Given the description of an element on the screen output the (x, y) to click on. 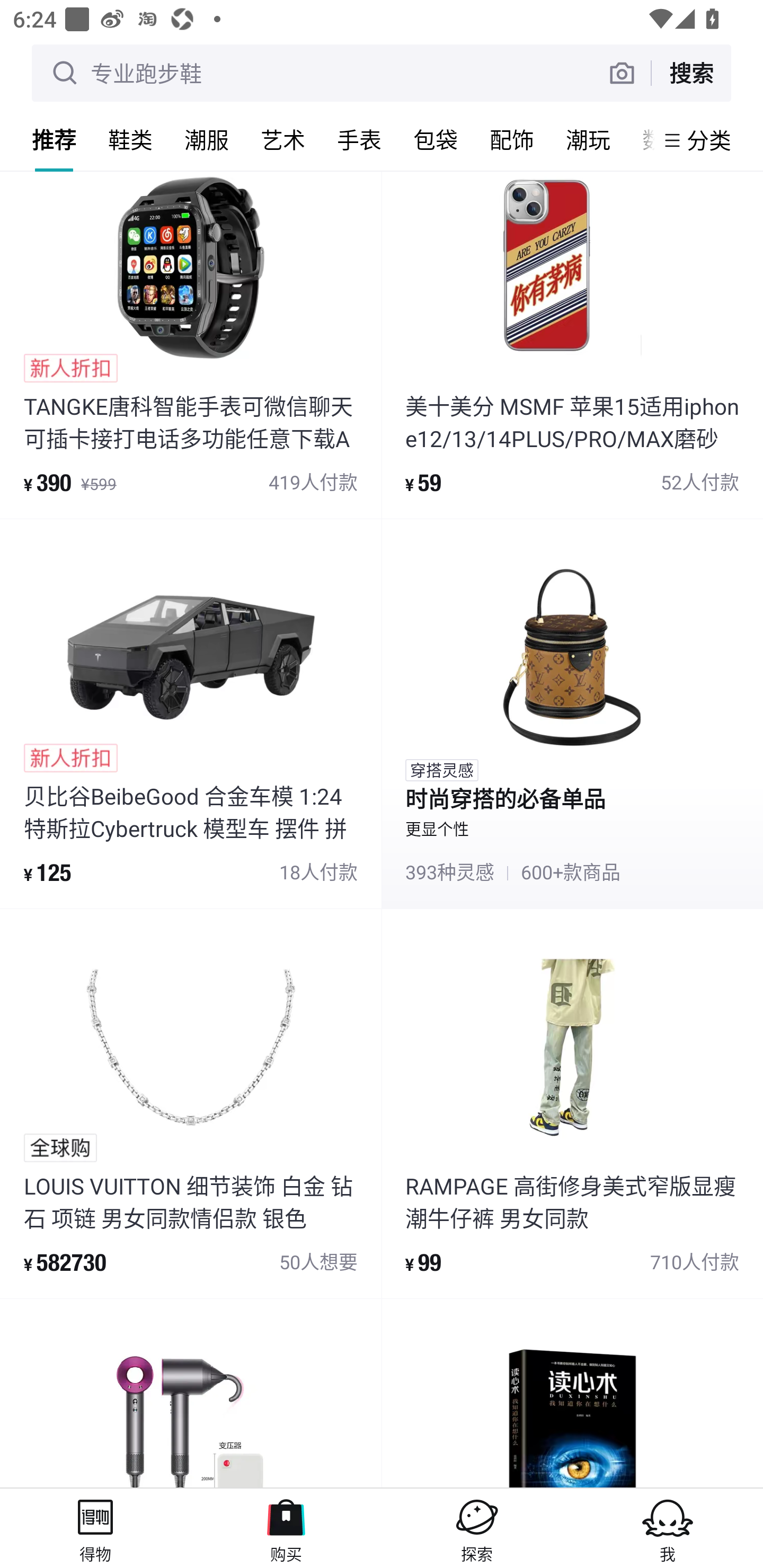
搜索 (690, 72)
推荐 (54, 139)
鞋类 (130, 139)
潮服 (206, 139)
艺术 (282, 139)
手表 (359, 139)
包袋 (435, 139)
配饰 (511, 139)
潮玩 (588, 139)
分类 (708, 139)
穿搭灵感 时尚穿搭的必备单品 更显个性 393种灵感 # 600+款商品 (572, 713)
product_item (572, 1393)
得物 (95, 1528)
购买 (285, 1528)
探索 (476, 1528)
我 (667, 1528)
